Given the description of an element on the screen output the (x, y) to click on. 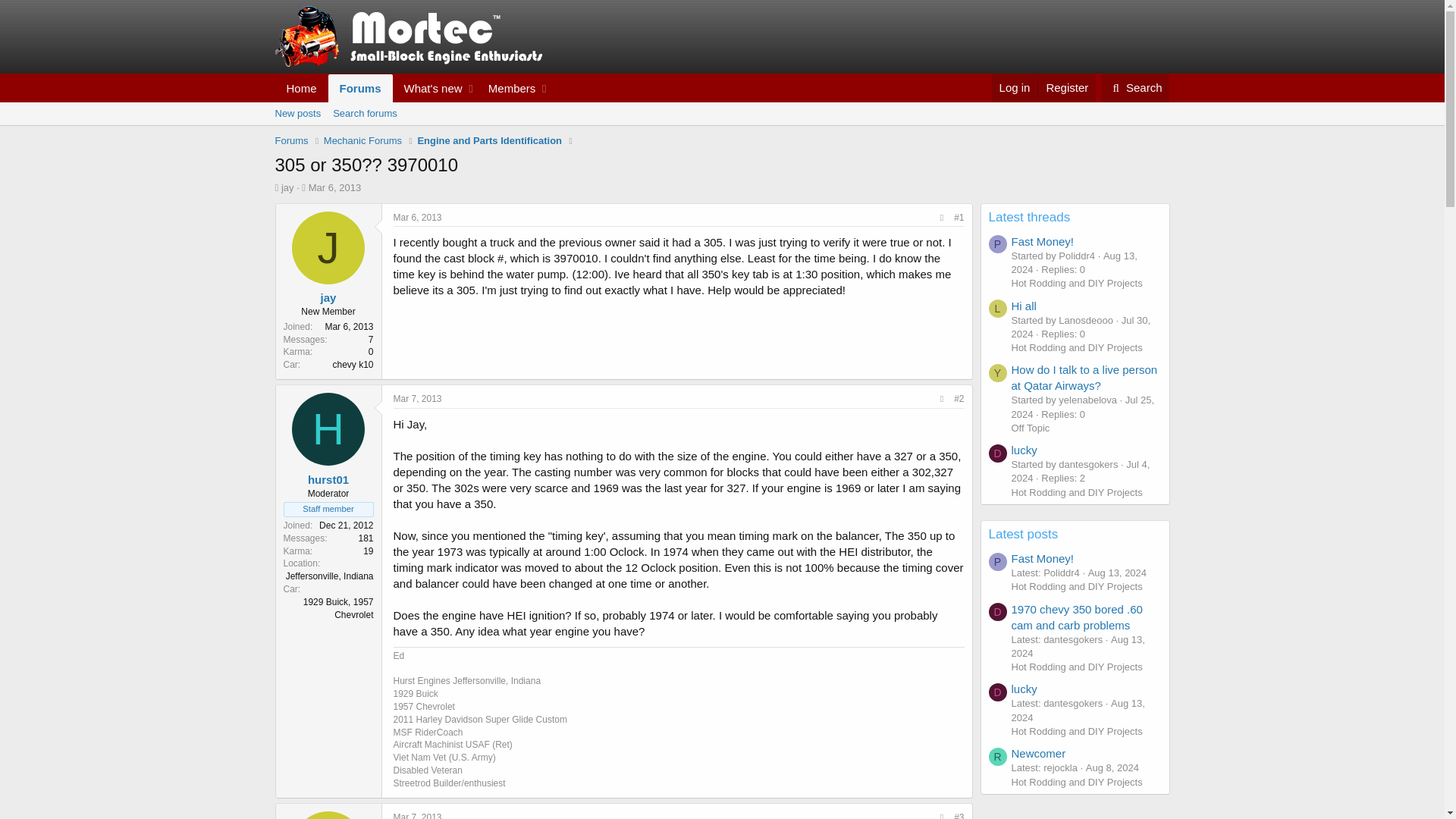
J (328, 247)
Mar 6, 2013 (334, 187)
Mar 7, 2013 at 12:22 AM (417, 398)
Members (507, 88)
Mar 6, 2013 (417, 217)
H (328, 429)
Jul 25, 2024 at 8:30 AM (1082, 406)
Mar 7, 2013 at 1:10 AM (417, 815)
What's new (429, 88)
Search (1136, 87)
